Given the description of an element on the screen output the (x, y) to click on. 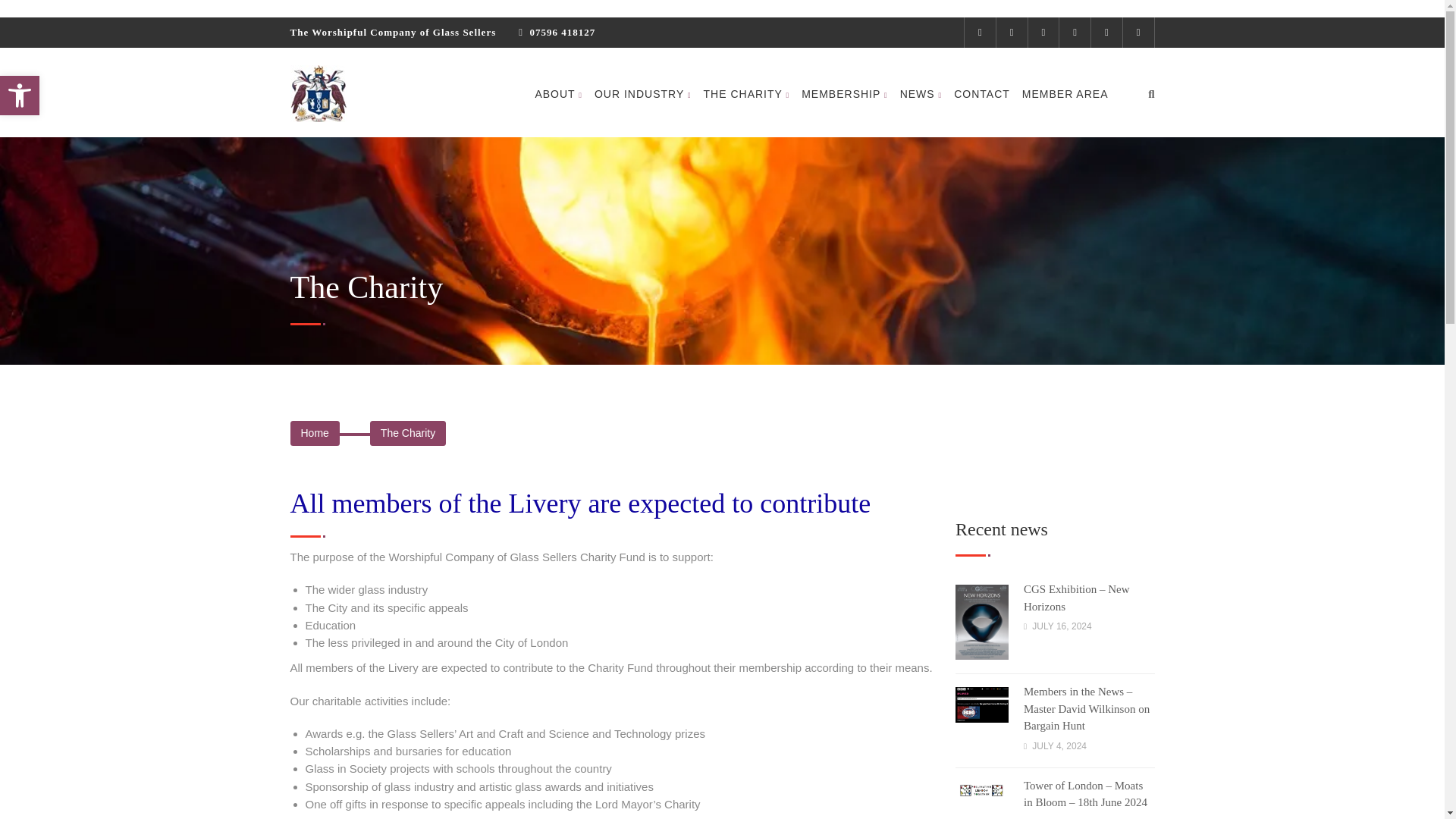
Accessibility Tools (19, 95)
THE CHARITY (746, 94)
ABOUT (558, 94)
Accessibility Tools (19, 95)
OUR INDUSTRY (642, 94)
